Given the description of an element on the screen output the (x, y) to click on. 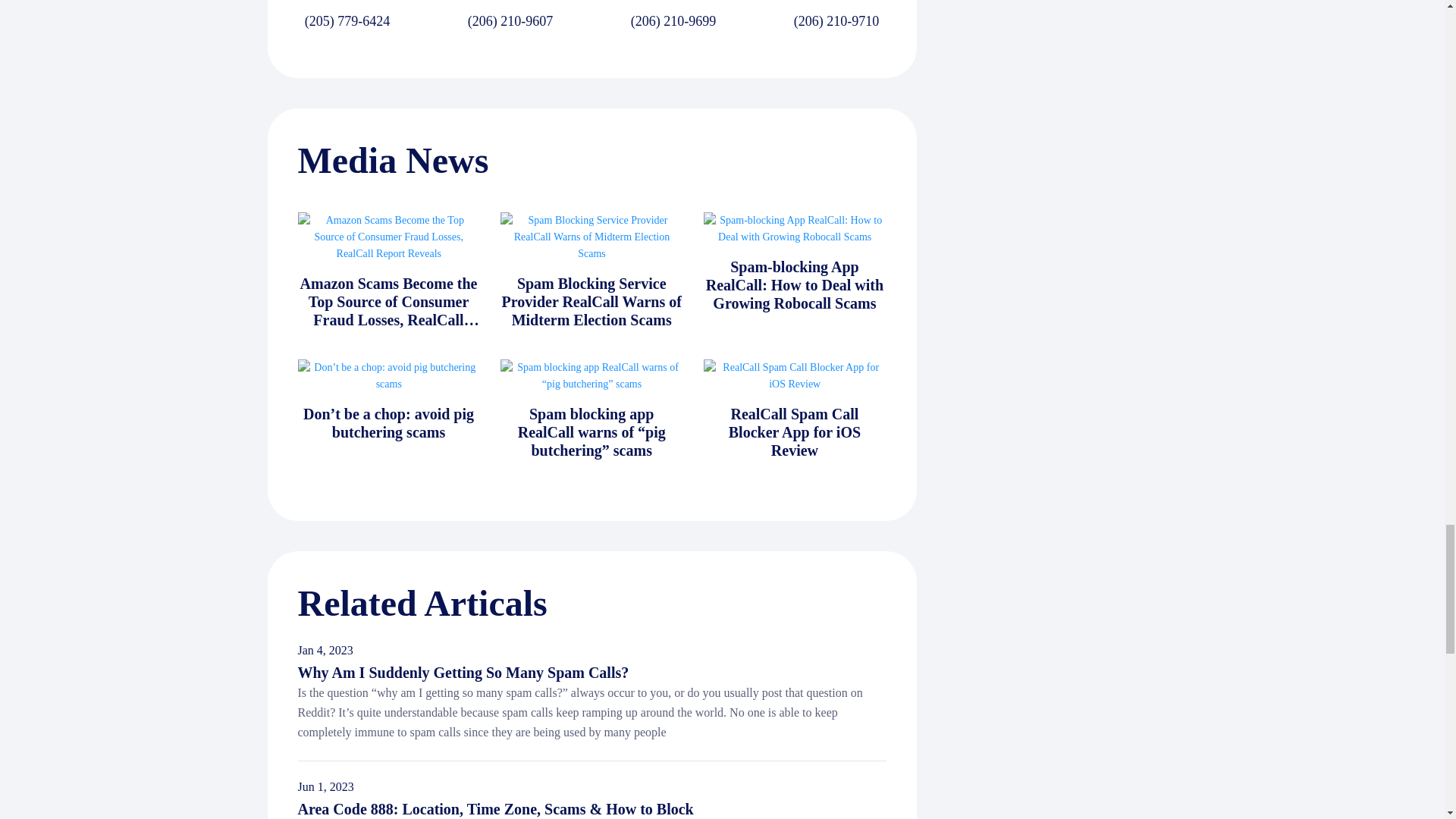
RealCall Spam Call Blocker App for iOS Review (794, 431)
